Given the description of an element on the screen output the (x, y) to click on. 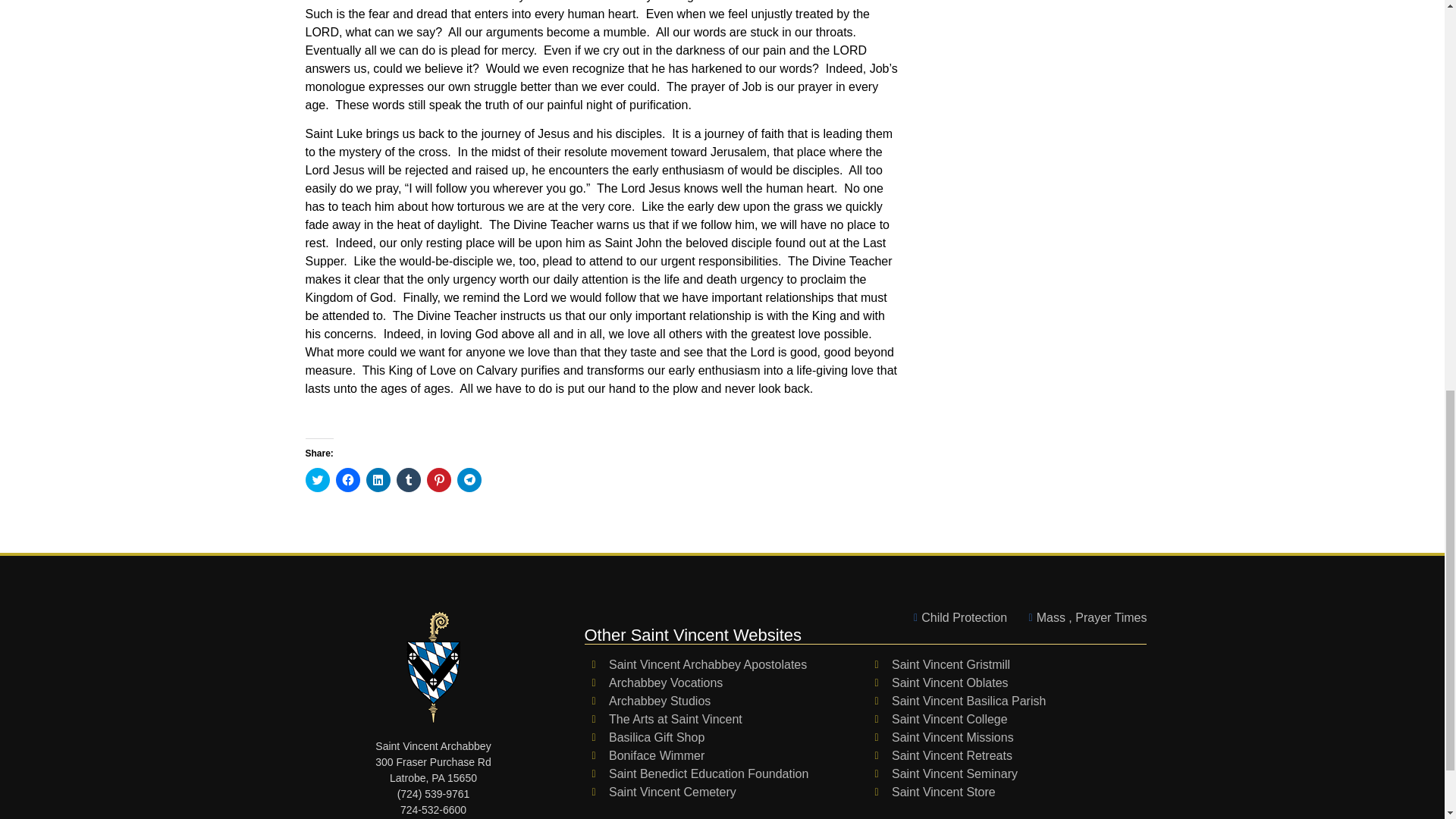
Click to share on Twitter (316, 479)
Child Protection (955, 618)
Click to share on Facebook (346, 479)
Mass , Prayer Times (1083, 618)
Click to share on Tumblr (408, 479)
Click to share on Telegram (468, 479)
Saint Vincent Archabbey Apostolates (725, 665)
Click to share on Pinterest (437, 479)
Archabbey Vocations (725, 683)
Click to share on LinkedIn (377, 479)
